Given the description of an element on the screen output the (x, y) to click on. 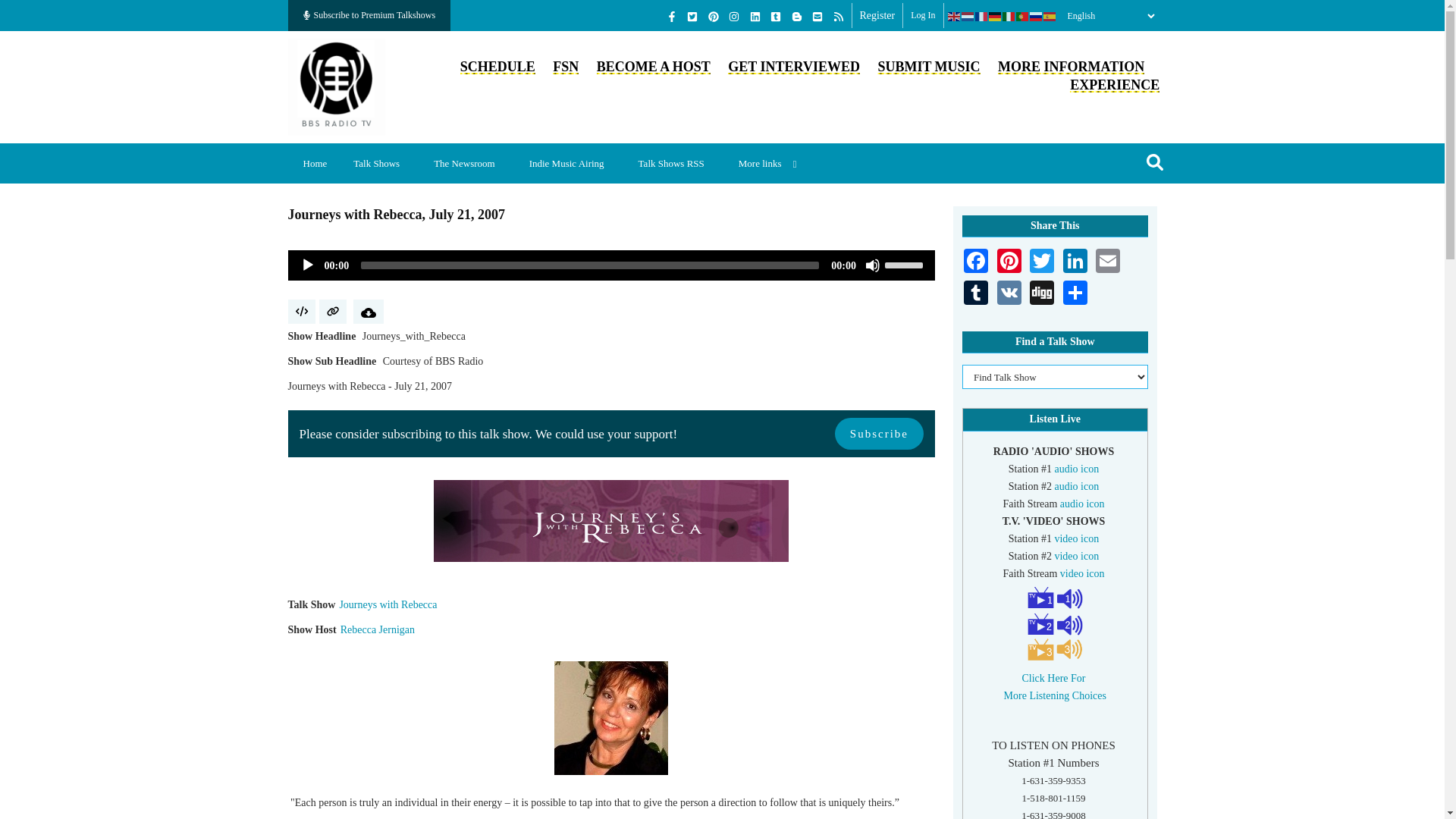
Deutsch (995, 15)
GET INTERVIEWED (794, 66)
Log In (922, 14)
SUBMIT MUSIC (928, 66)
Italiano (1009, 15)
Talk Shows (382, 163)
FSN (565, 66)
BECOME A HOST (653, 66)
English (953, 15)
Copy audio url to listen (332, 311)
The Experience of Live Talk Shows Done Right! (1114, 84)
Register (877, 15)
Copy audio embed code (301, 311)
MORE INFORMATION (1070, 66)
Home (336, 85)
